Given the description of an element on the screen output the (x, y) to click on. 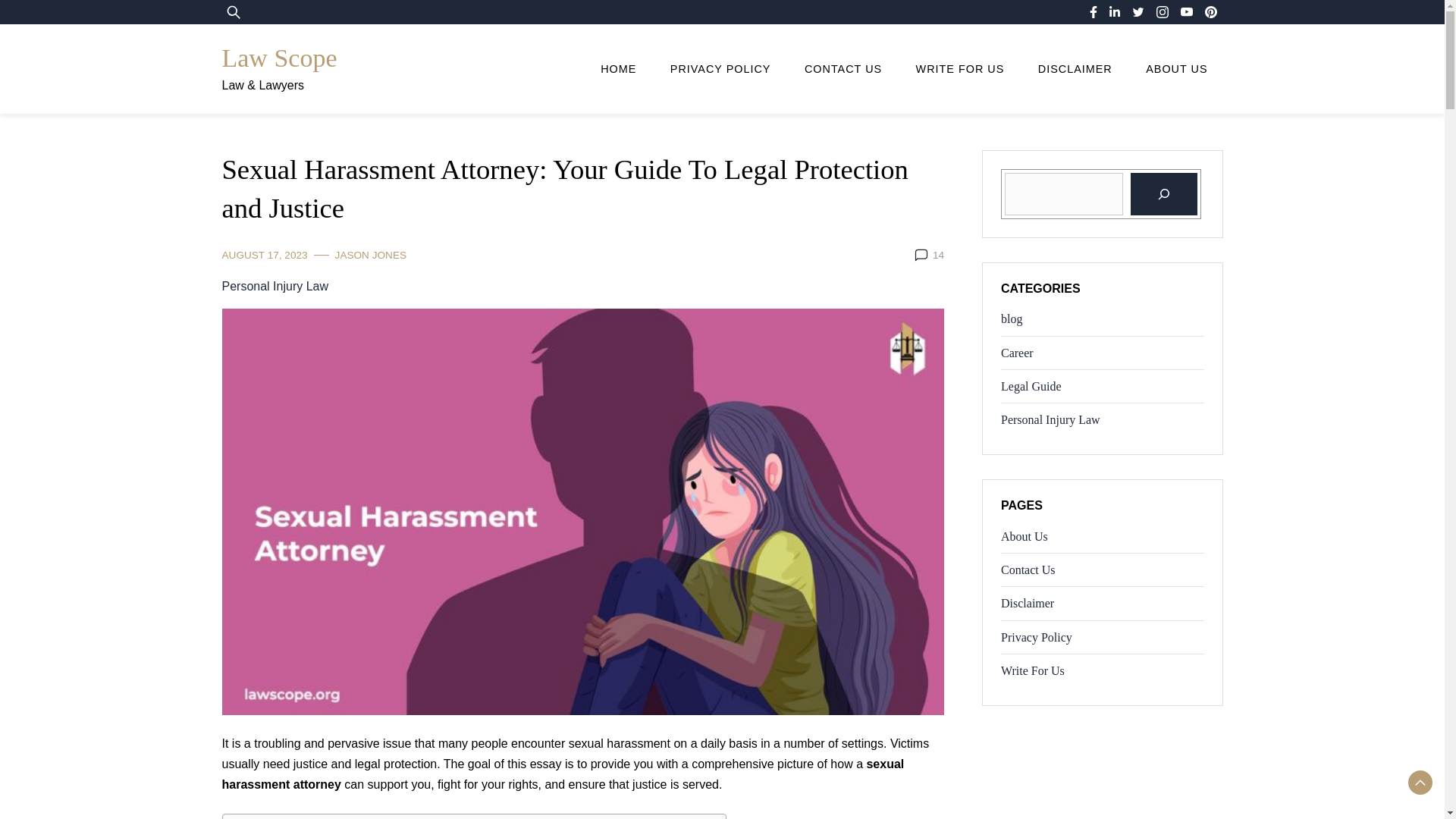
ABOUT US (1177, 69)
HOME (617, 69)
Personal Injury Law (275, 286)
AUGUST 17, 2023 (264, 254)
Law Scope (278, 58)
WRITE FOR US (960, 69)
CONTACT US (842, 69)
Search (56, 21)
JASON JONES (370, 254)
DISCLAIMER (1074, 69)
PRIVACY POLICY (720, 69)
